Given the description of an element on the screen output the (x, y) to click on. 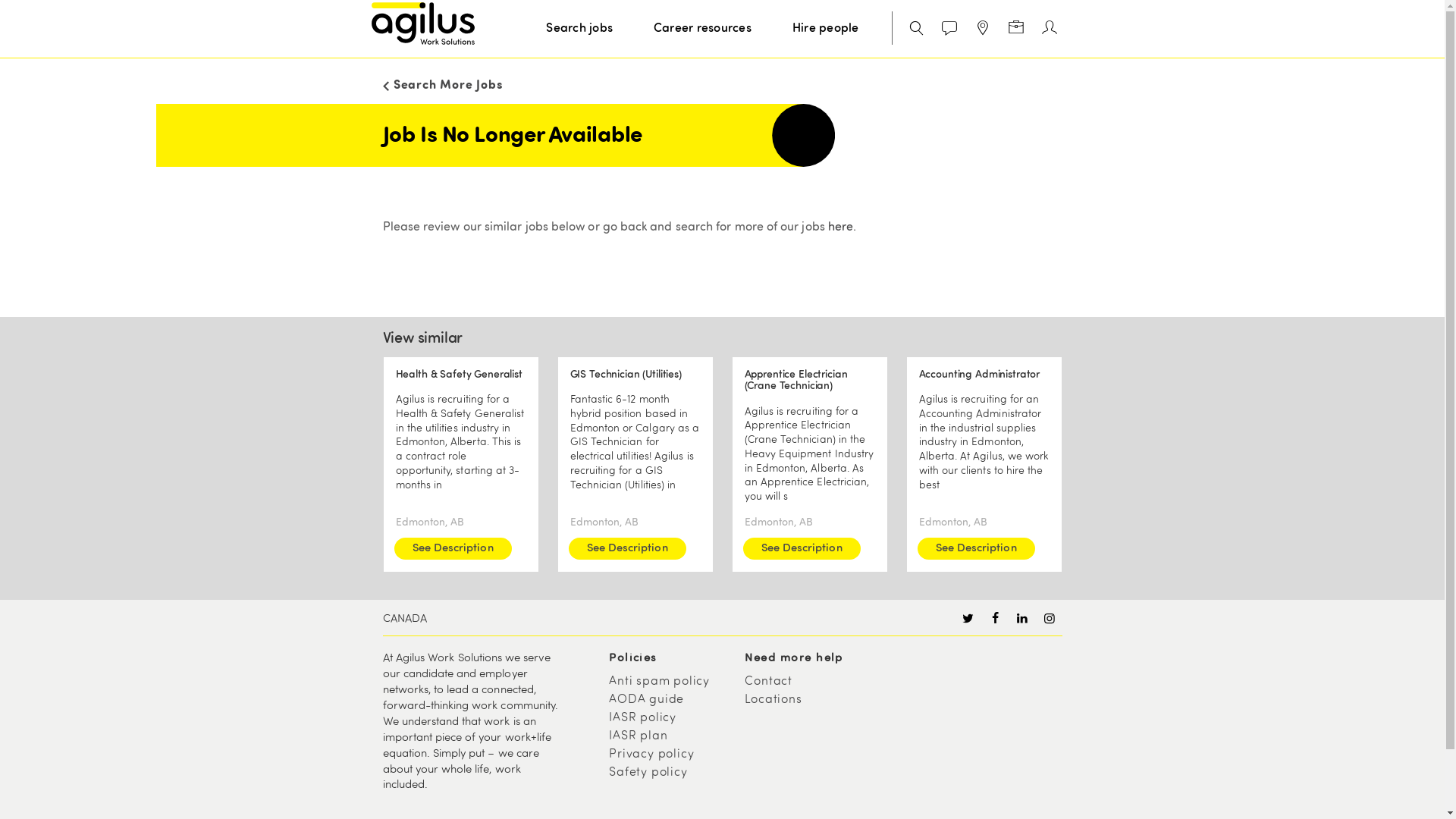
Search More Jobs Element type: text (721, 83)
AODA guide Element type: text (670, 699)
Search jobs Element type: text (579, 28)
IASR policy Element type: text (670, 718)
See Description Element type: text (976, 548)
See Description Element type: text (801, 548)
Chat Element type: text (949, 28)
here Element type: text (840, 227)
Locations Element type: text (806, 699)
Members Element type: text (1049, 28)
Hire people Element type: text (825, 28)
IASR plan Element type: text (670, 736)
Career resources Element type: text (702, 28)
Agilus Work Solutions Element type: hover (422, 23)
Contact Element type: text (806, 681)
Safety policy Element type: text (670, 772)
Dashboard Element type: text (1015, 28)
Search Element type: text (912, 28)
Locate Element type: text (982, 28)
See Description Element type: text (627, 548)
Privacy policy Element type: text (670, 754)
Anti spam policy Element type: text (670, 681)
See Description Element type: text (452, 548)
